Given the description of an element on the screen output the (x, y) to click on. 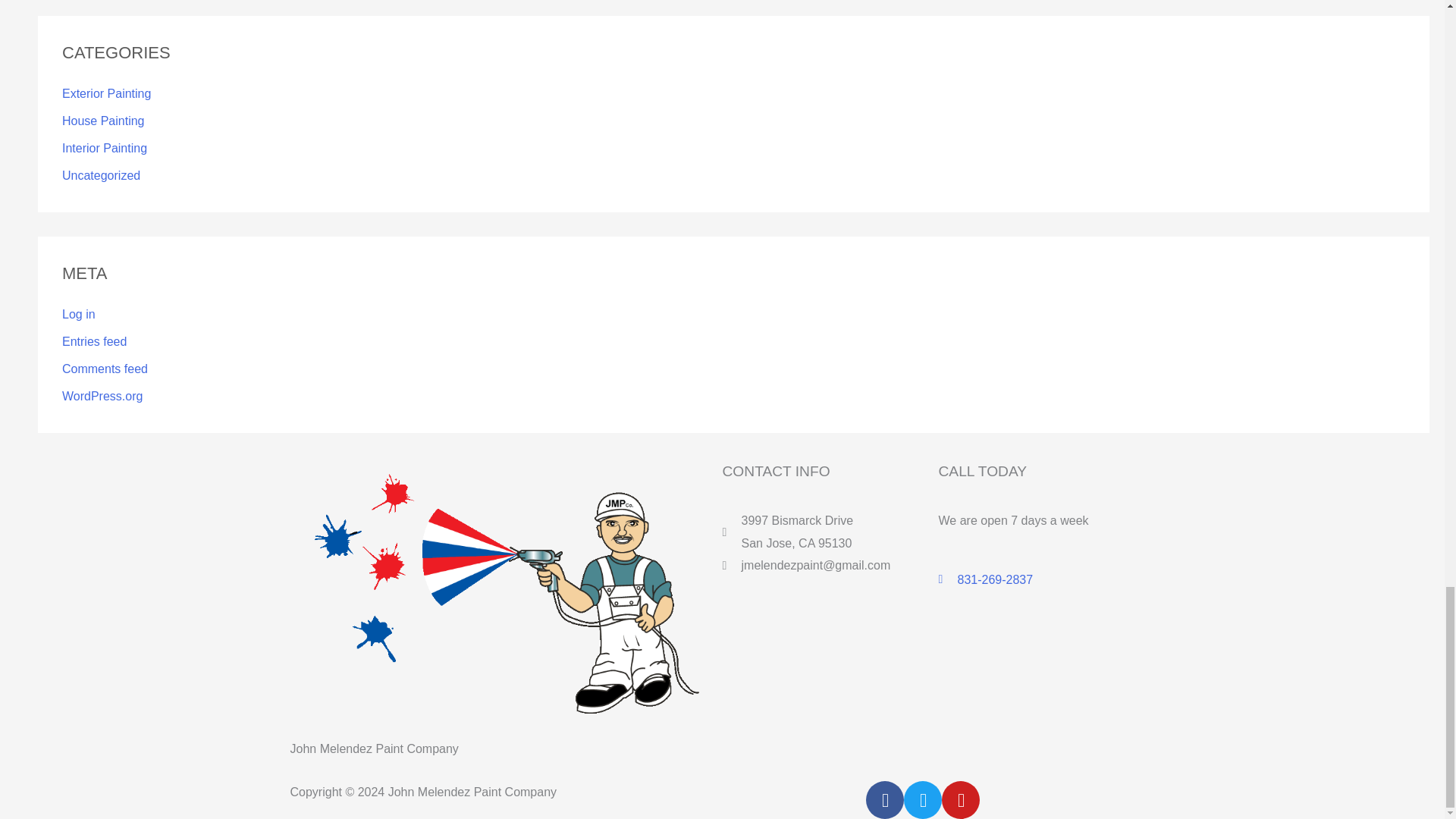
Uncategorized (100, 174)
Entries feed (94, 341)
WordPress.org (102, 395)
Comments feed (105, 368)
Interior Painting (104, 147)
Log in (79, 314)
House Painting (103, 120)
Exterior Painting (106, 92)
831-269-2837 (1046, 579)
